Given the description of an element on the screen output the (x, y) to click on. 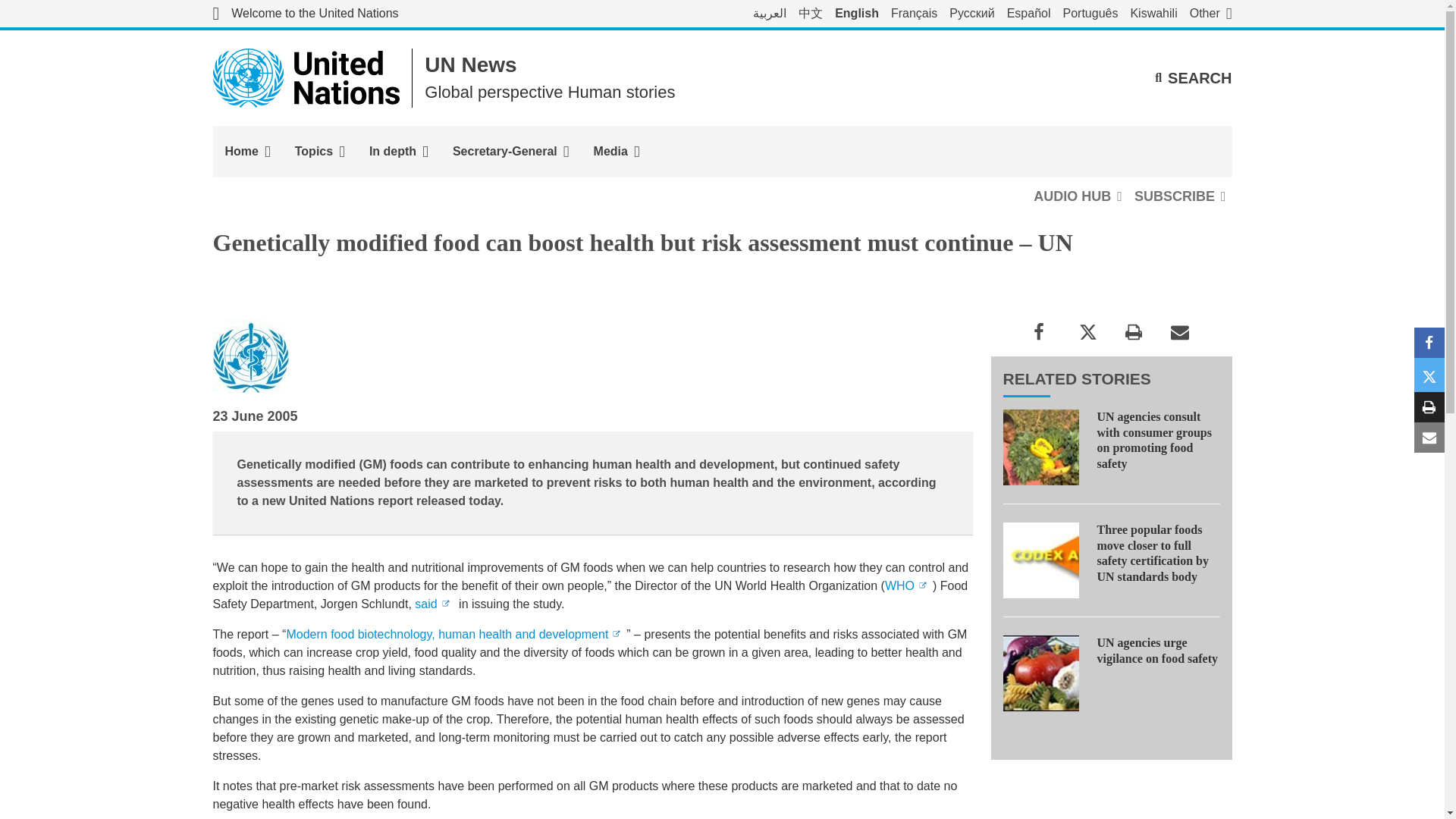
Home (247, 151)
United Nations (305, 76)
Home (247, 151)
Kiswahili (1152, 13)
Welcome to the United Nations (304, 13)
Topics (319, 151)
United Nations (304, 13)
UN News (470, 64)
SEARCH (1192, 77)
Other (1210, 13)
